Given the description of an element on the screen output the (x, y) to click on. 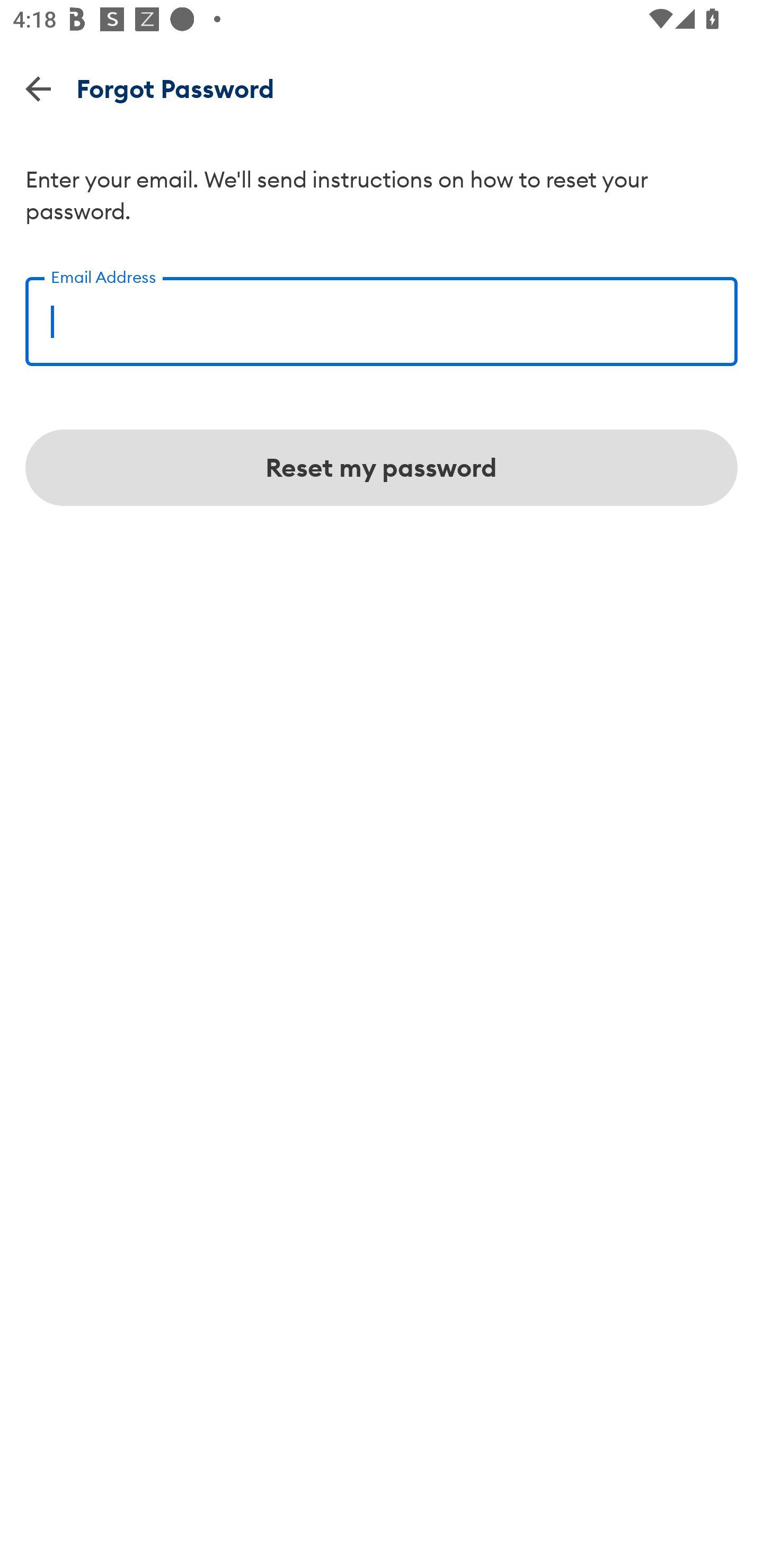
Back (38, 88)
Email Address (381, 314)
Reset my password (381, 467)
